Given the description of an element on the screen output the (x, y) to click on. 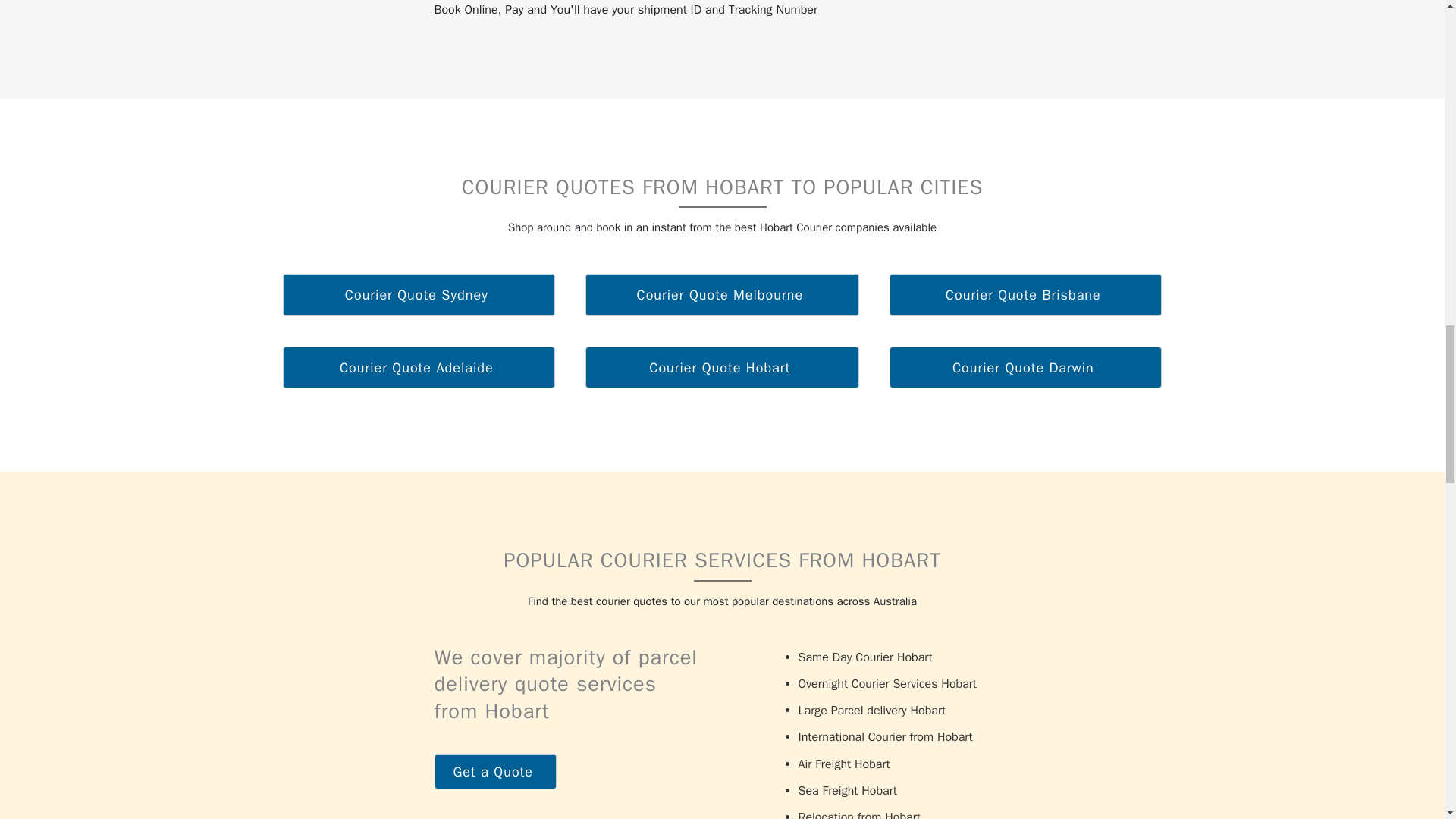
Courier Quote Melbourne (722, 294)
Courier Quote Adelaide (418, 367)
Courier Quote Sydney (418, 294)
Courier Quote Brisbane (1025, 294)
Courier Quote Hobart (722, 367)
